Given the description of an element on the screen output the (x, y) to click on. 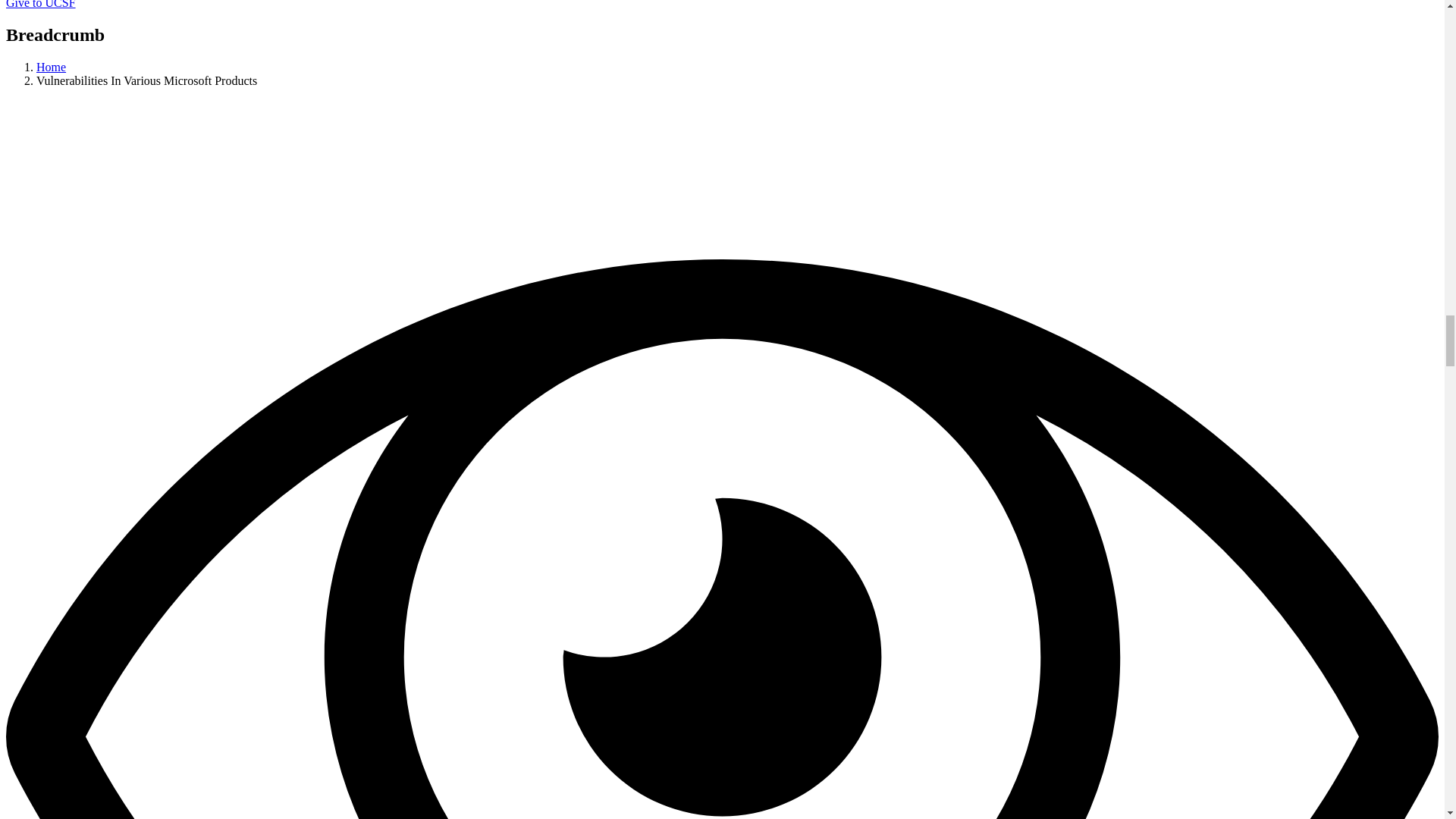
Home (50, 66)
Give to UCSF (40, 4)
